Given the description of an element on the screen output the (x, y) to click on. 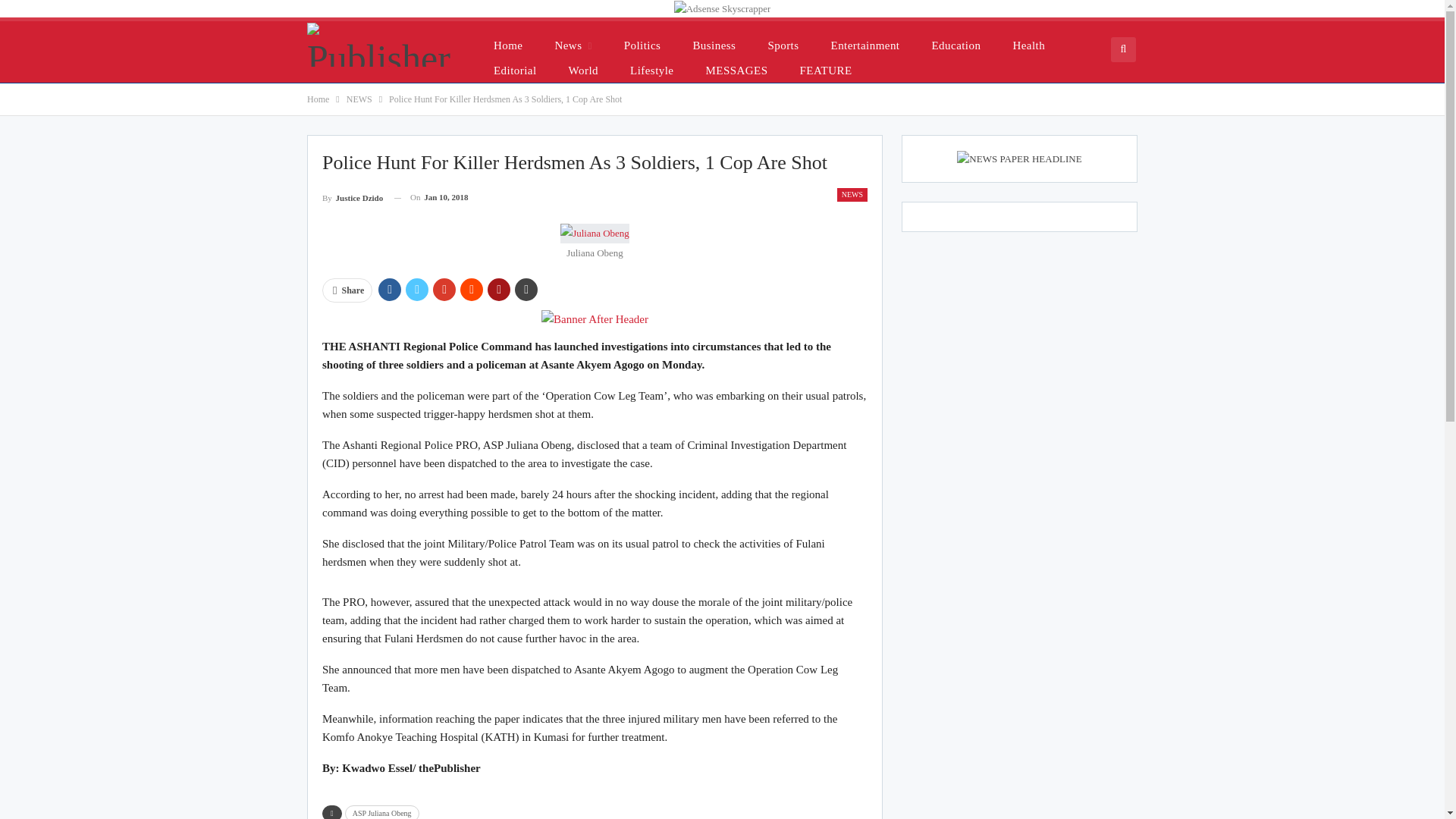
NEWS (359, 98)
NEWS (852, 194)
Health (1028, 44)
Business (713, 44)
Editorial (514, 69)
By Justice Dzido (351, 197)
FEATURE (825, 69)
World (583, 69)
Browse Author Articles (351, 197)
Politics (641, 44)
Lifestyle (651, 69)
Home (318, 98)
Home (508, 44)
ASP Juliana Obeng (382, 812)
Sports (782, 44)
